Given the description of an element on the screen output the (x, y) to click on. 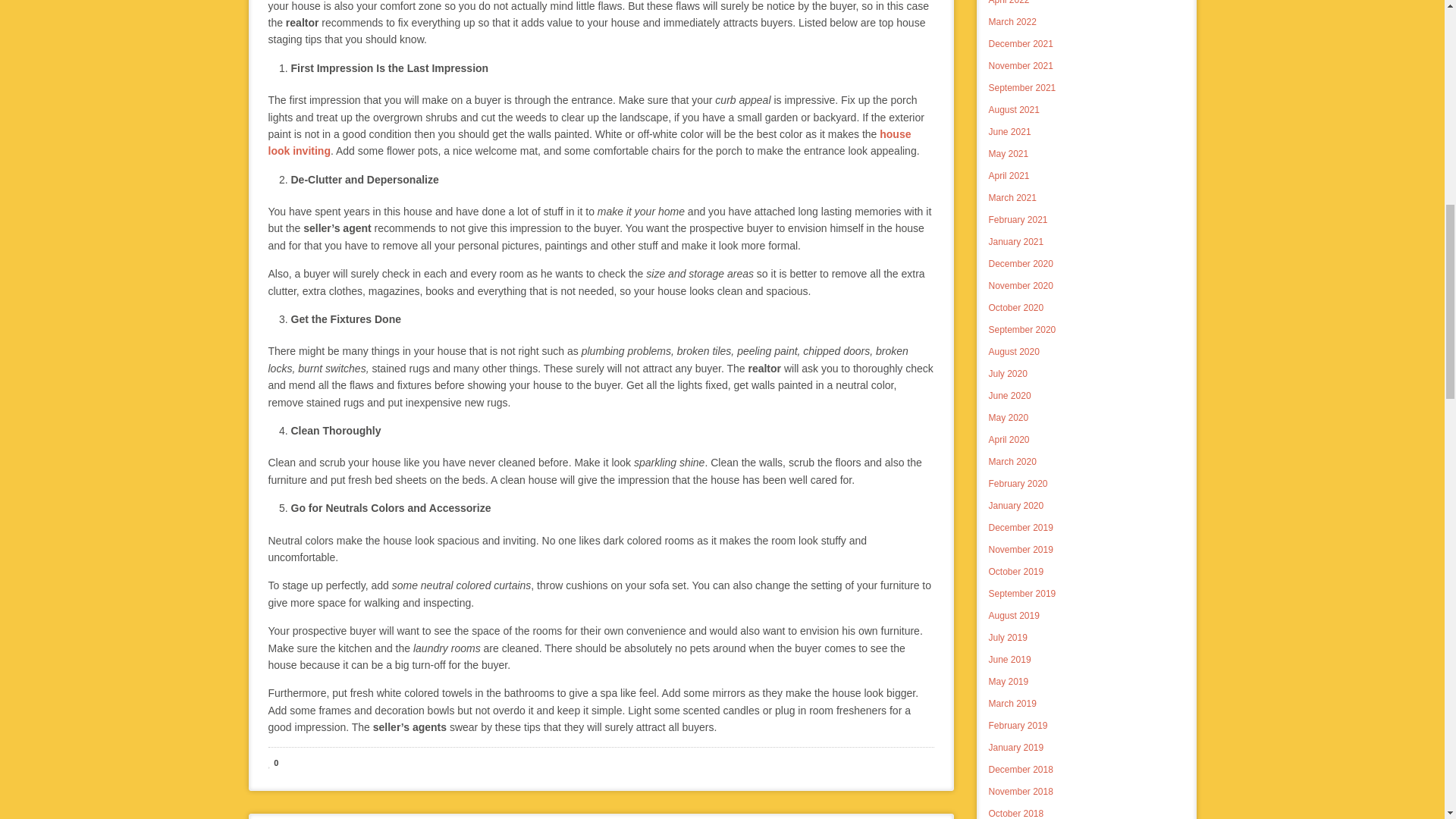
house look inviting (589, 142)
